Given the description of an element on the screen output the (x, y) to click on. 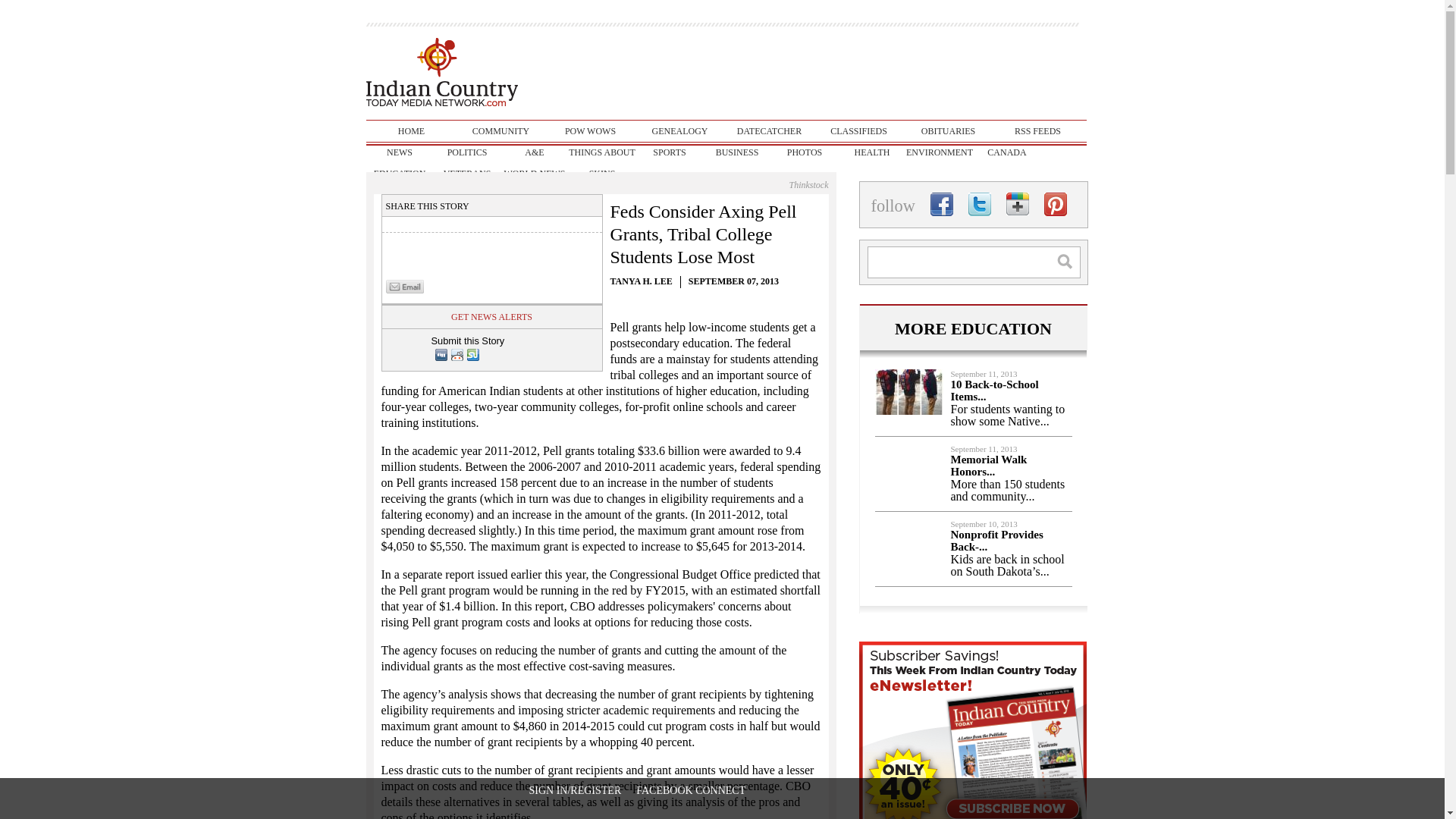
ENVIRONMENT (938, 151)
SPORTS (668, 151)
THINGS ABOUT SKINS (602, 151)
COMMUNITY (500, 130)
GENEALOGY (679, 130)
PHOTOS (804, 151)
Search (1072, 261)
VETERANS (466, 173)
CANADA (1007, 151)
WORLD NEWS (533, 173)
Enter the terms you wish to search for. (973, 262)
POW WOWS (589, 130)
HEALTH (871, 151)
